Given the description of an element on the screen output the (x, y) to click on. 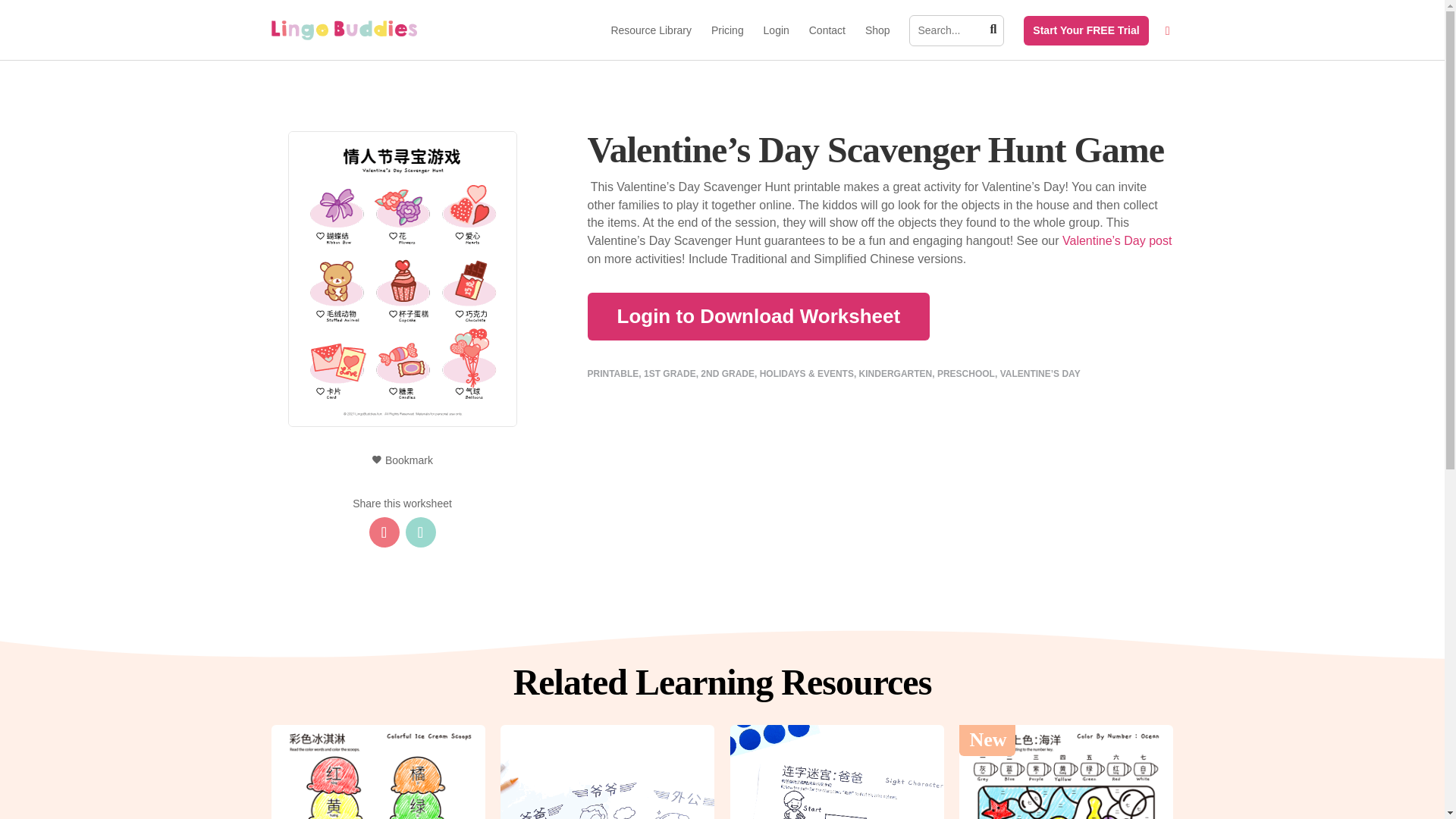
PRESCHOOL (965, 373)
PRINTABLE (612, 373)
Login to Download Worksheet (758, 316)
Contact (827, 41)
Share to Facebook (419, 531)
Resource Library (650, 41)
Pricing (727, 41)
KINDERGARTEN (896, 373)
2ND GRADE (727, 373)
1ST GRADE (669, 373)
Shop (876, 41)
Share to Pinterest (383, 531)
Login (775, 41)
Start Your FREE Trial (1085, 30)
